Given the description of an element on the screen output the (x, y) to click on. 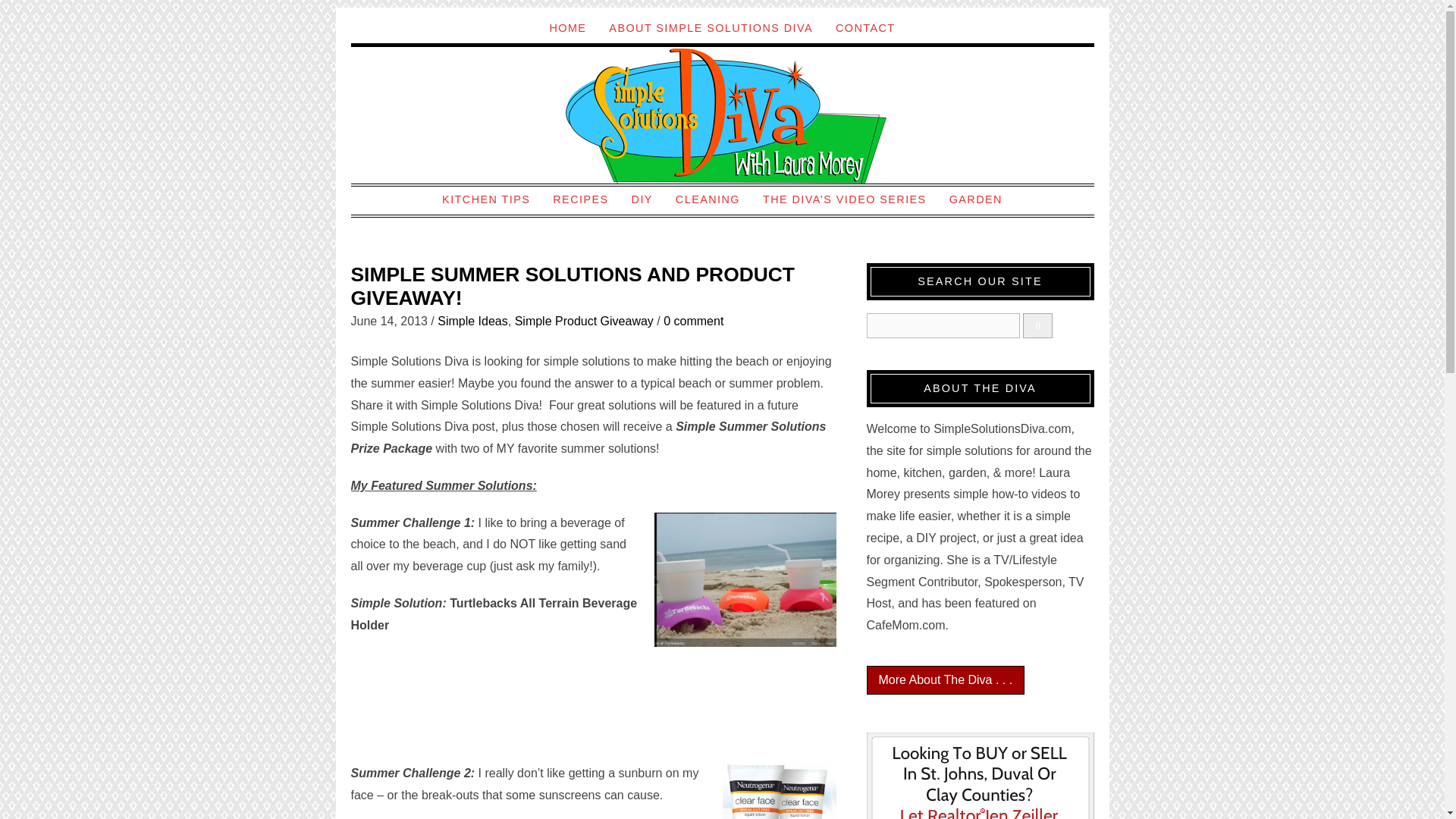
HOME (566, 27)
GARDEN (975, 199)
CONTACT (865, 27)
Simple Ideas (473, 320)
Search (942, 325)
SimpleSolutionsDiva.com (721, 114)
Simple Summer Solutions and Product Giveaway! (572, 286)
ABOUT SIMPLE SOLUTIONS DIVA (710, 27)
Simple Product Giveaway (584, 320)
RECIPES (580, 199)
SIMPLE SUMMER SOLUTIONS AND PRODUCT GIVEAWAY! (572, 286)
CLEANING (707, 199)
0 comment (693, 320)
More About The Diva . . . (945, 679)
DIY (641, 199)
